Given the description of an element on the screen output the (x, y) to click on. 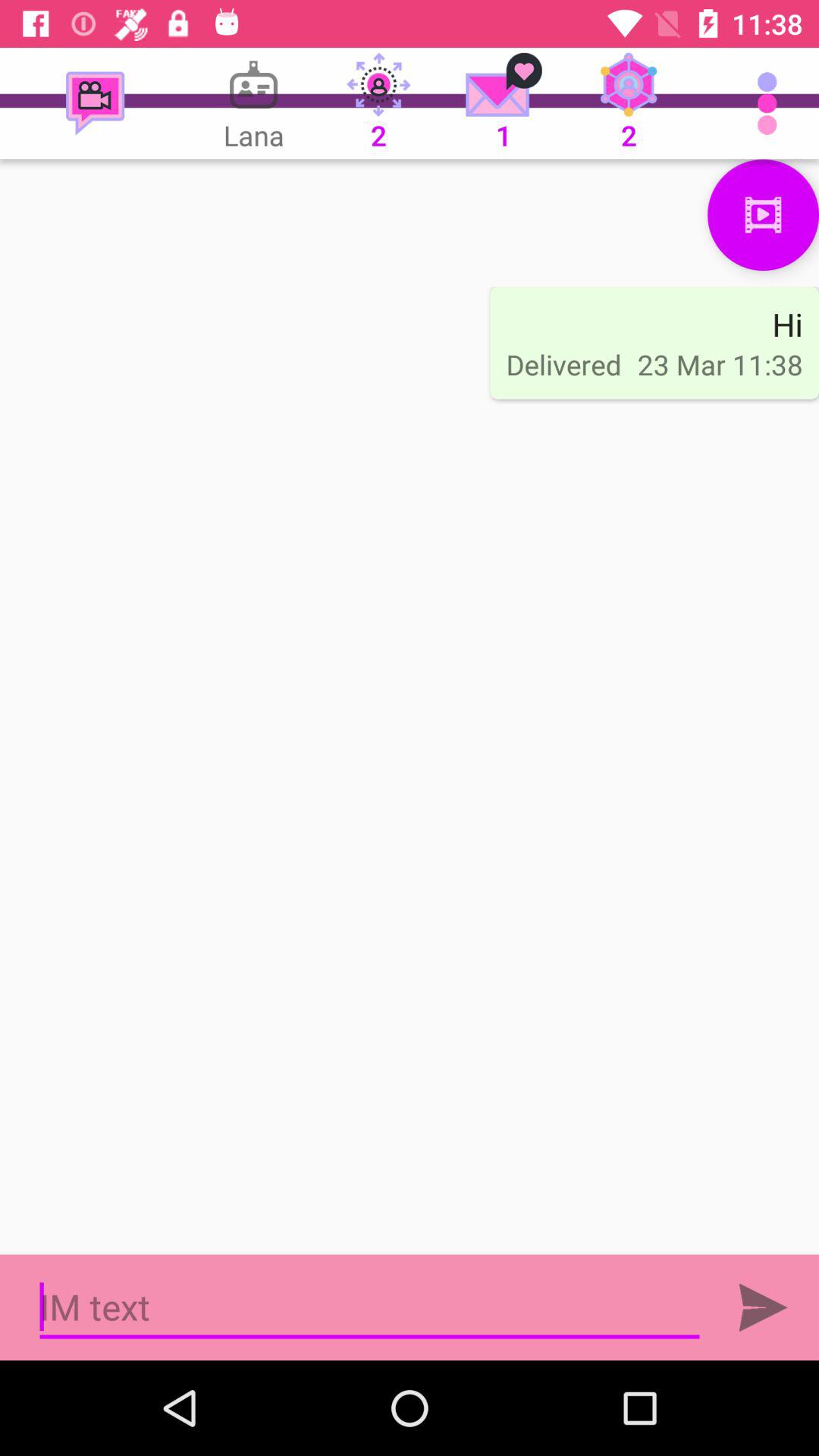
type text message option (369, 1307)
